Given the description of an element on the screen output the (x, y) to click on. 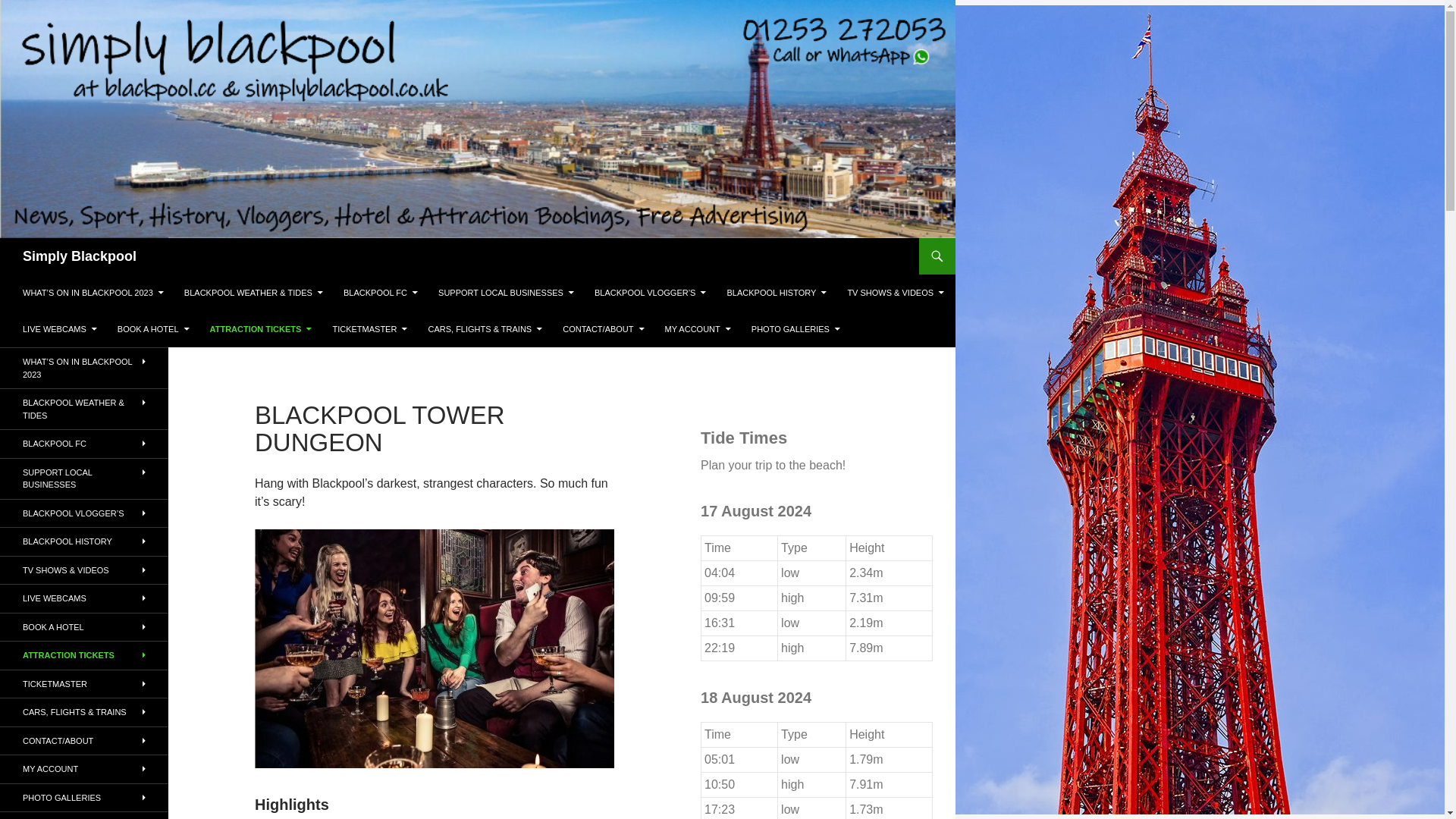
SUPPORT LOCAL BUSINESSES (506, 292)
BLACKPOOL FC (380, 292)
Simply Blackpool (79, 256)
